Given the description of an element on the screen output the (x, y) to click on. 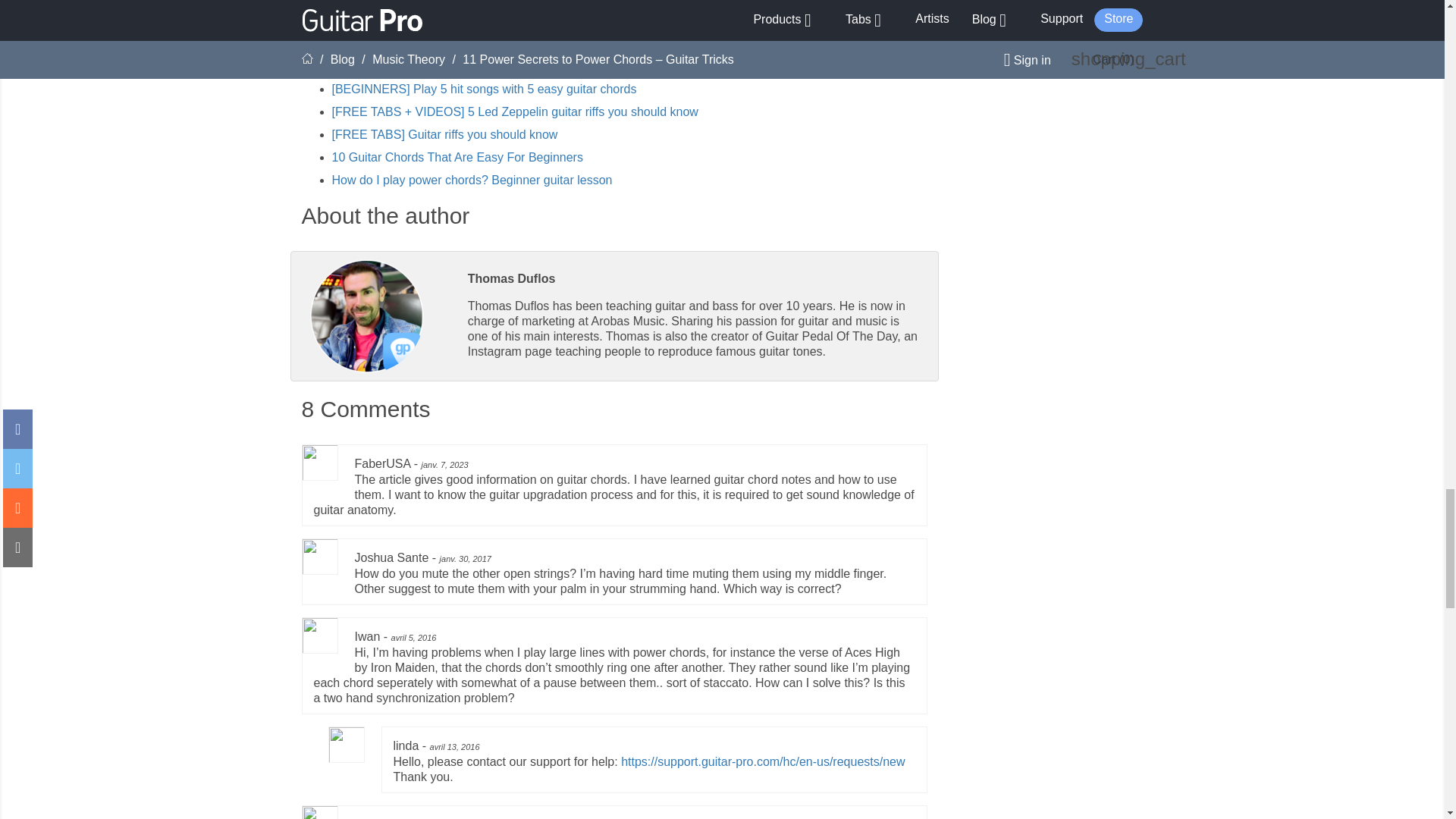
How do I play power chords? Beginner guitar lesson (471, 179)
10 Guitar Chords That Are Easy For Beginners (457, 156)
